Given the description of an element on the screen output the (x, y) to click on. 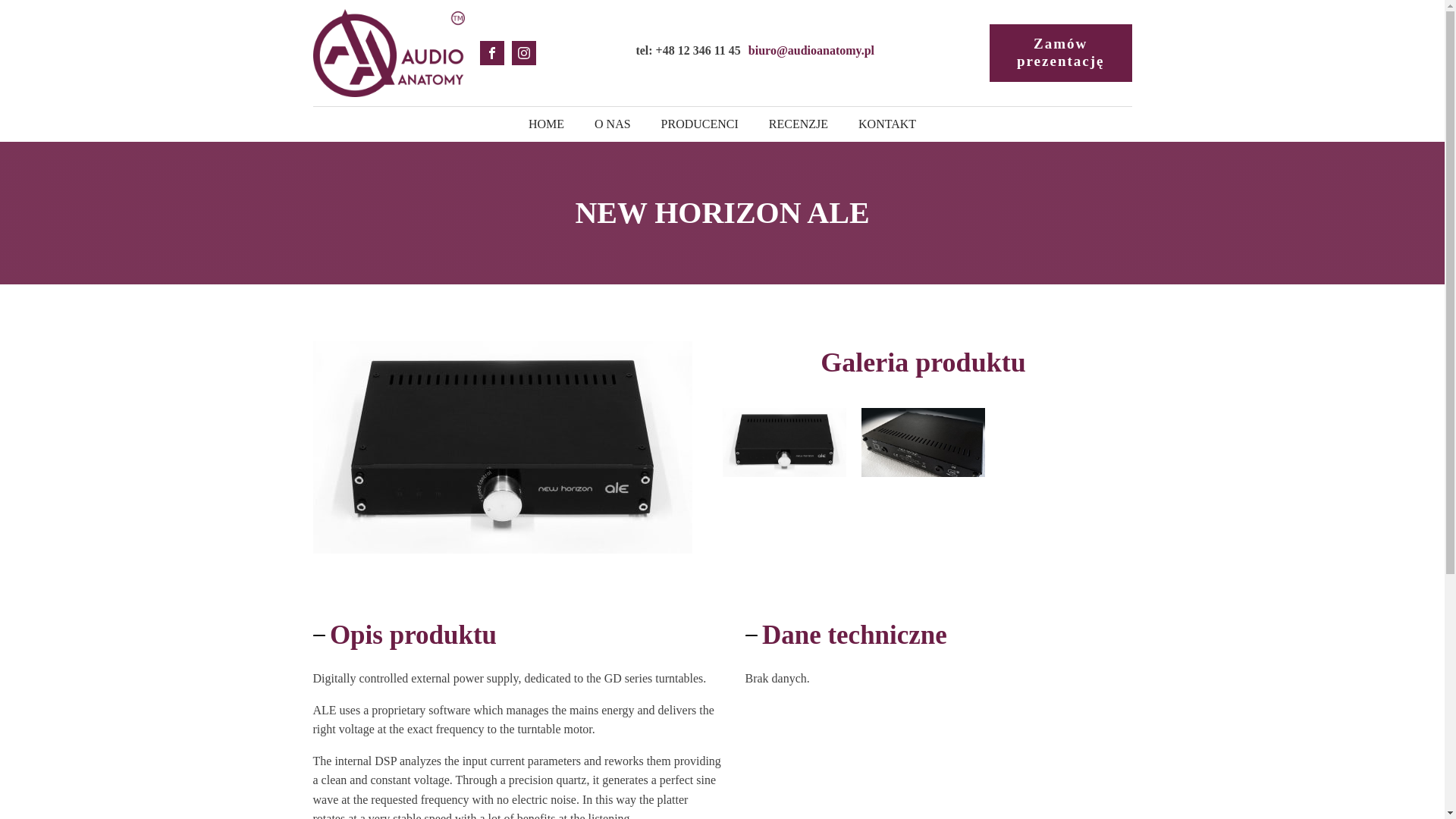
O NAS (612, 124)
RECENZJE (798, 124)
HOME (545, 124)
PRODUCENCI (699, 124)
KONTAKT (887, 124)
